Given the description of an element on the screen output the (x, y) to click on. 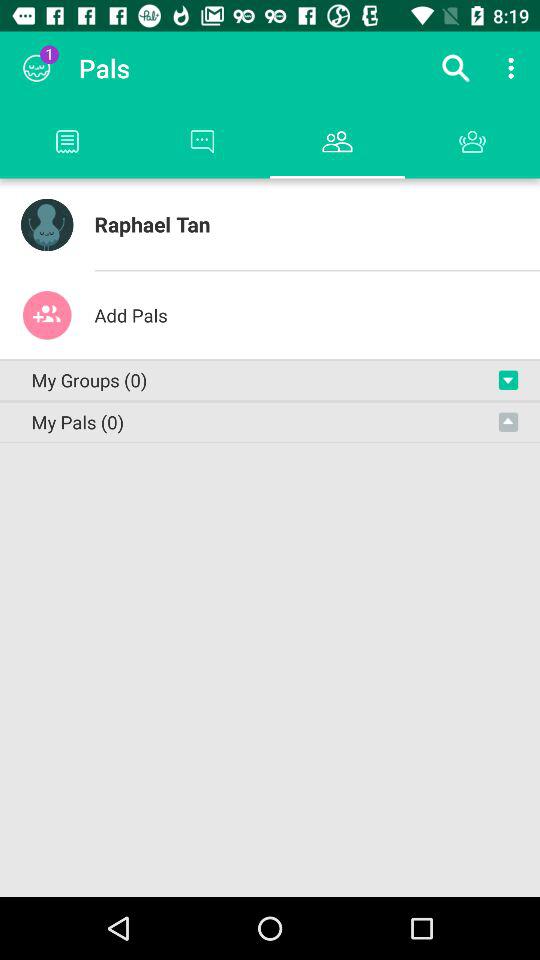
click item to the left of pals (36, 68)
